Given the description of an element on the screen output the (x, y) to click on. 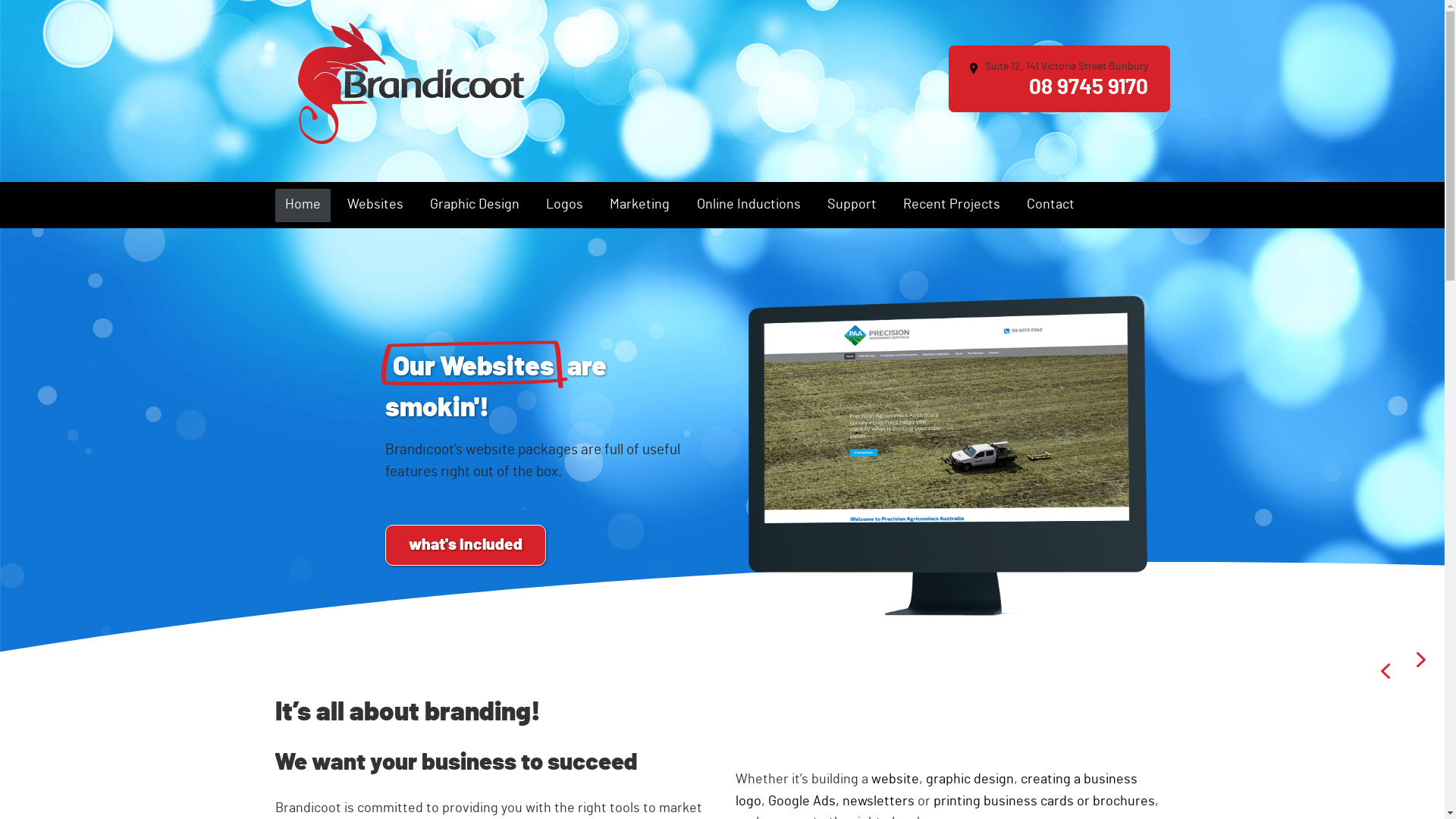
Google Ads, Element type: text (803, 801)
Our Websites Element type: text (473, 366)
Support Element type: text (851, 205)
Online Inductions Element type: text (747, 205)
what's included Element type: text (465, 544)
graphic design Element type: text (969, 779)
Suite 12, 141 Victoria Street Bunbury Element type: text (1058, 66)
Logos Element type: text (564, 205)
printing business cards or brochures Element type: text (1043, 801)
Graphic Design Element type: text (474, 205)
website Element type: text (895, 779)
newsletters Element type: text (878, 801)
08 9745 9170 Element type: text (1088, 90)
Recent Projects Element type: text (951, 205)
Websites Element type: text (375, 205)
Marketing Element type: text (639, 205)
Contact Element type: text (1050, 205)
Home Element type: text (301, 205)
creating a business logo Element type: text (936, 790)
